Given the description of an element on the screen output the (x, y) to click on. 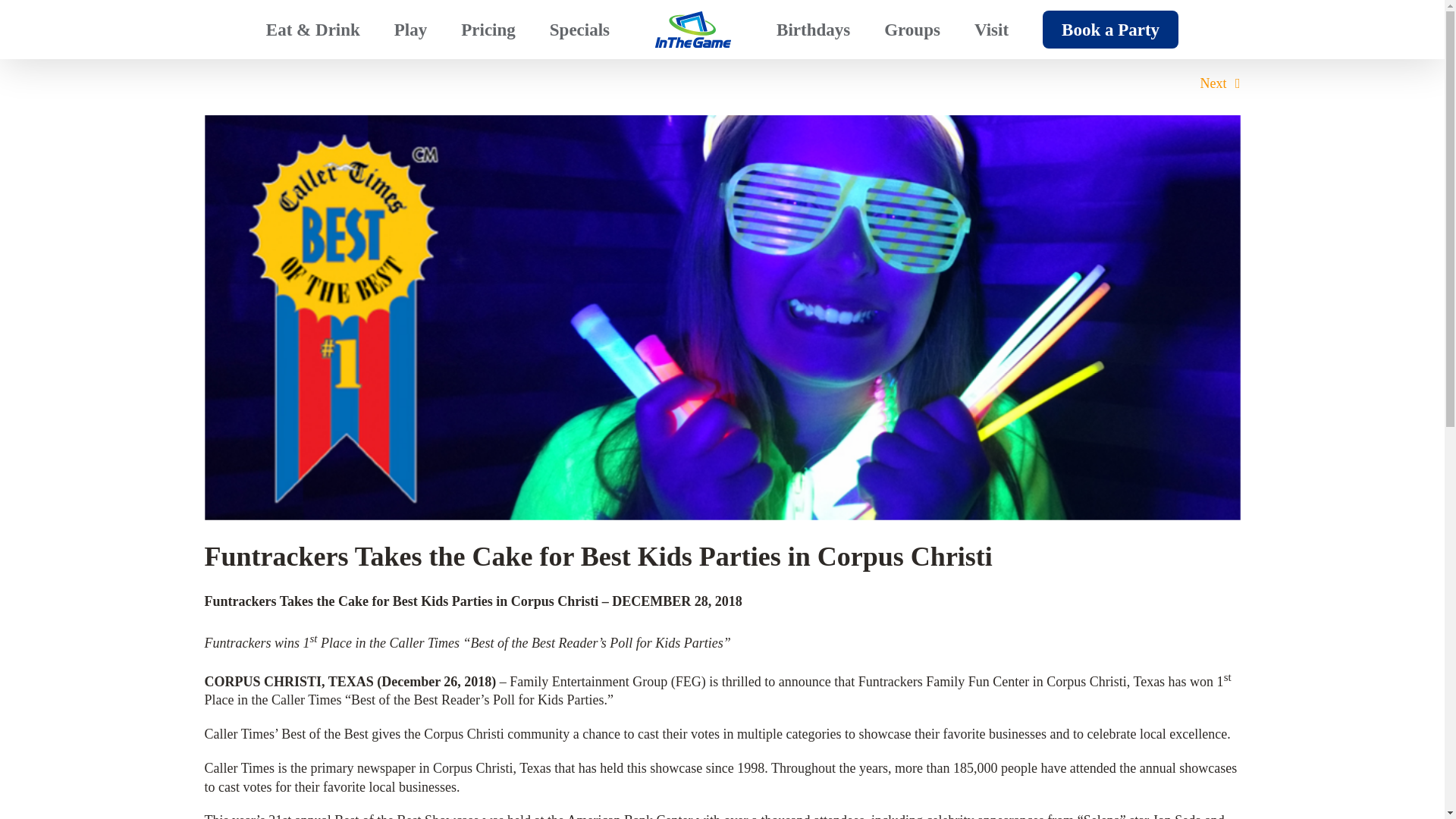
Pricing (488, 29)
Specials (580, 29)
Birthdays (813, 29)
Groups (911, 29)
